Given the description of an element on the screen output the (x, y) to click on. 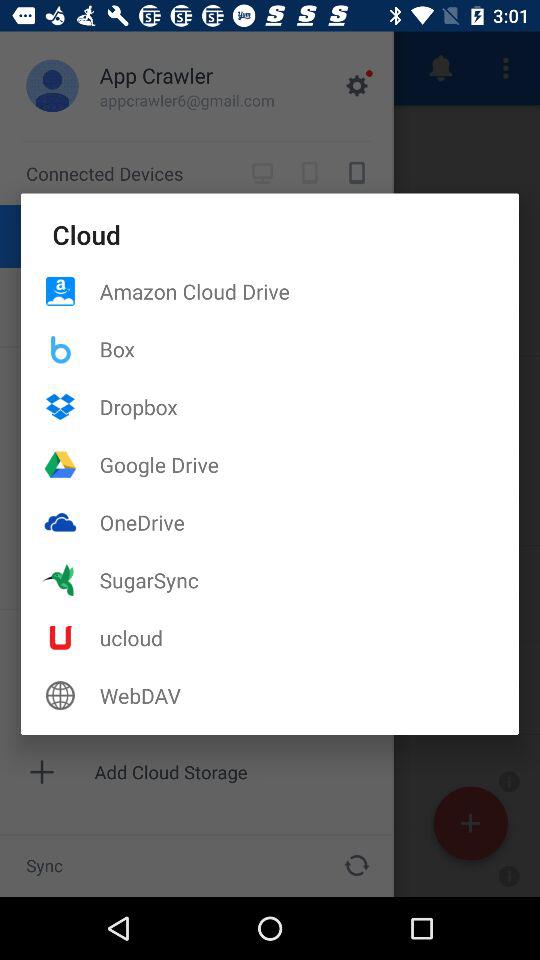
tap the item above onedrive (309, 464)
